Given the description of an element on the screen output the (x, y) to click on. 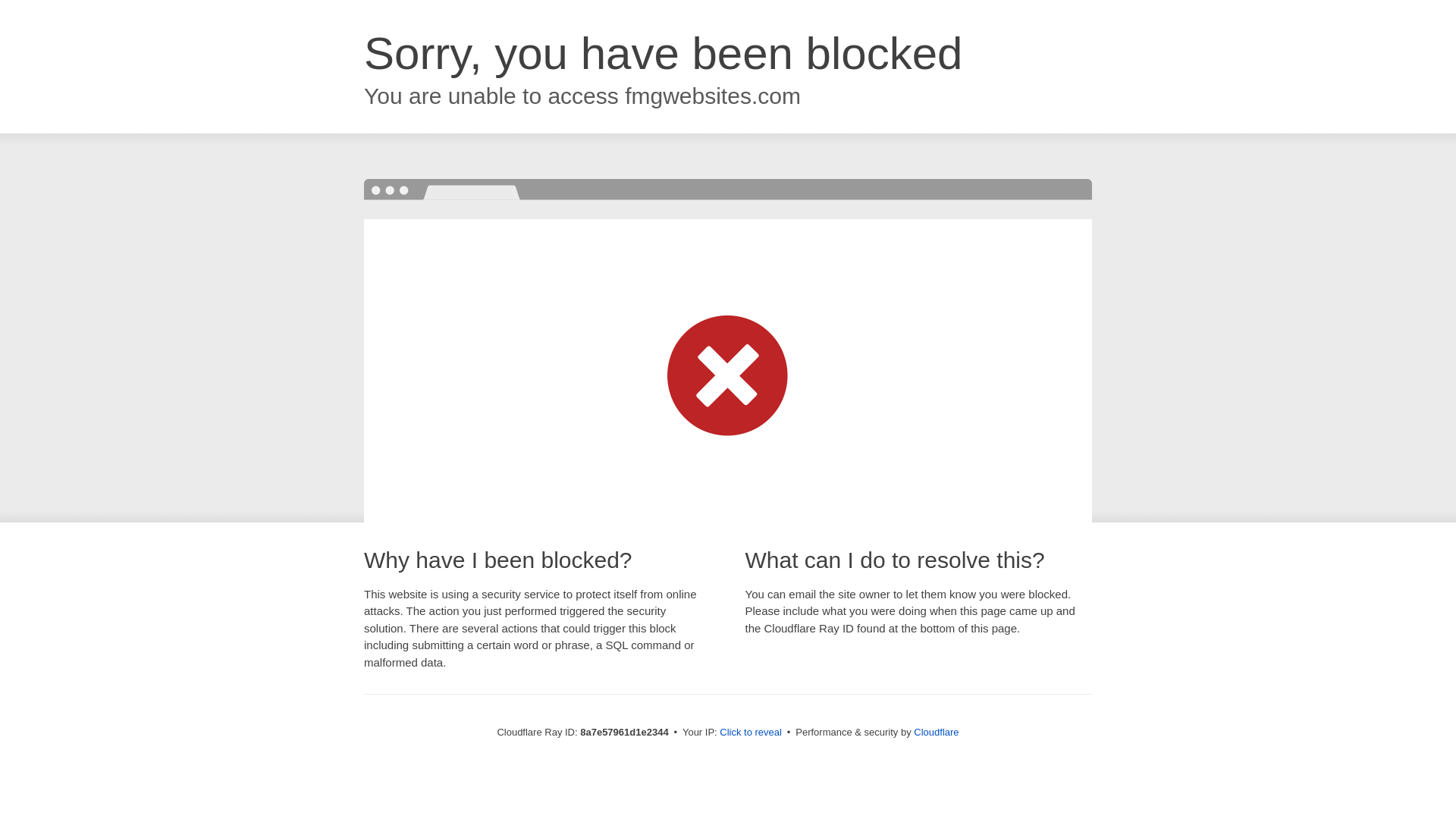
Click to reveal (750, 732)
Cloudflare (936, 731)
